Given the description of an element on the screen output the (x, y) to click on. 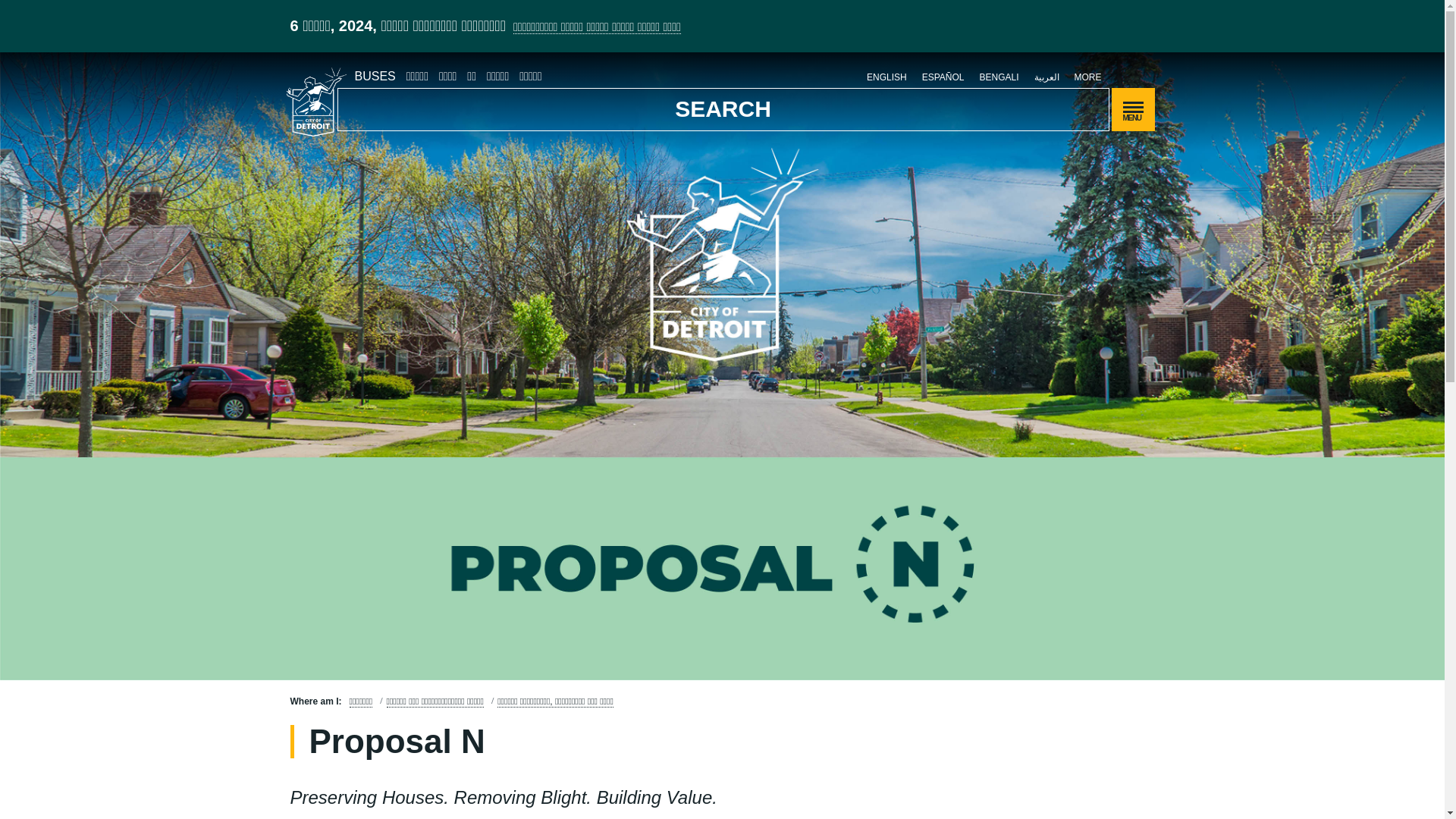
BUSES (374, 76)
ENGLISH (886, 76)
MORE (1086, 76)
BENGALI (998, 76)
